Given the description of an element on the screen output the (x, y) to click on. 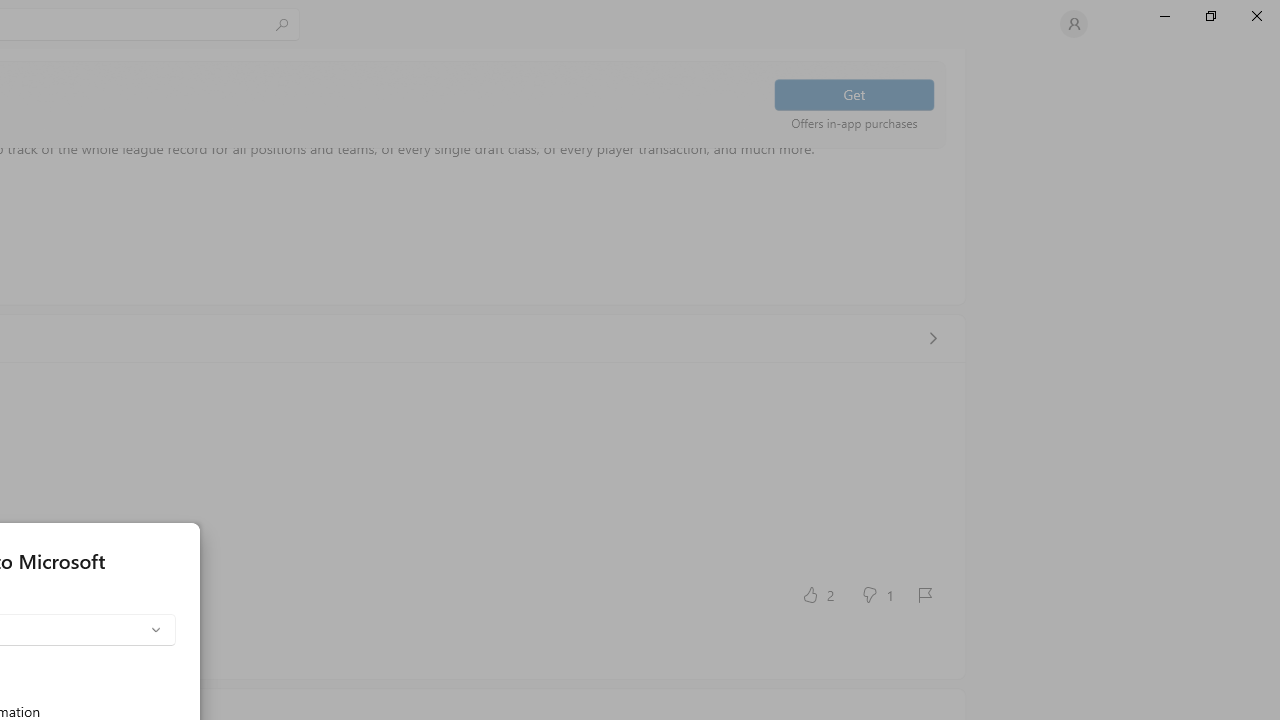
No, this was not helpful. 1 votes. (875, 593)
Get (854, 94)
Minimize Microsoft Store (1164, 15)
Yes, this was helpful. 2 votes. (816, 593)
Restore Microsoft Store (1210, 15)
Show all ratings and reviews (932, 337)
User profile (1073, 24)
Close Microsoft Store (1256, 15)
Report review (924, 594)
